Given the description of an element on the screen output the (x, y) to click on. 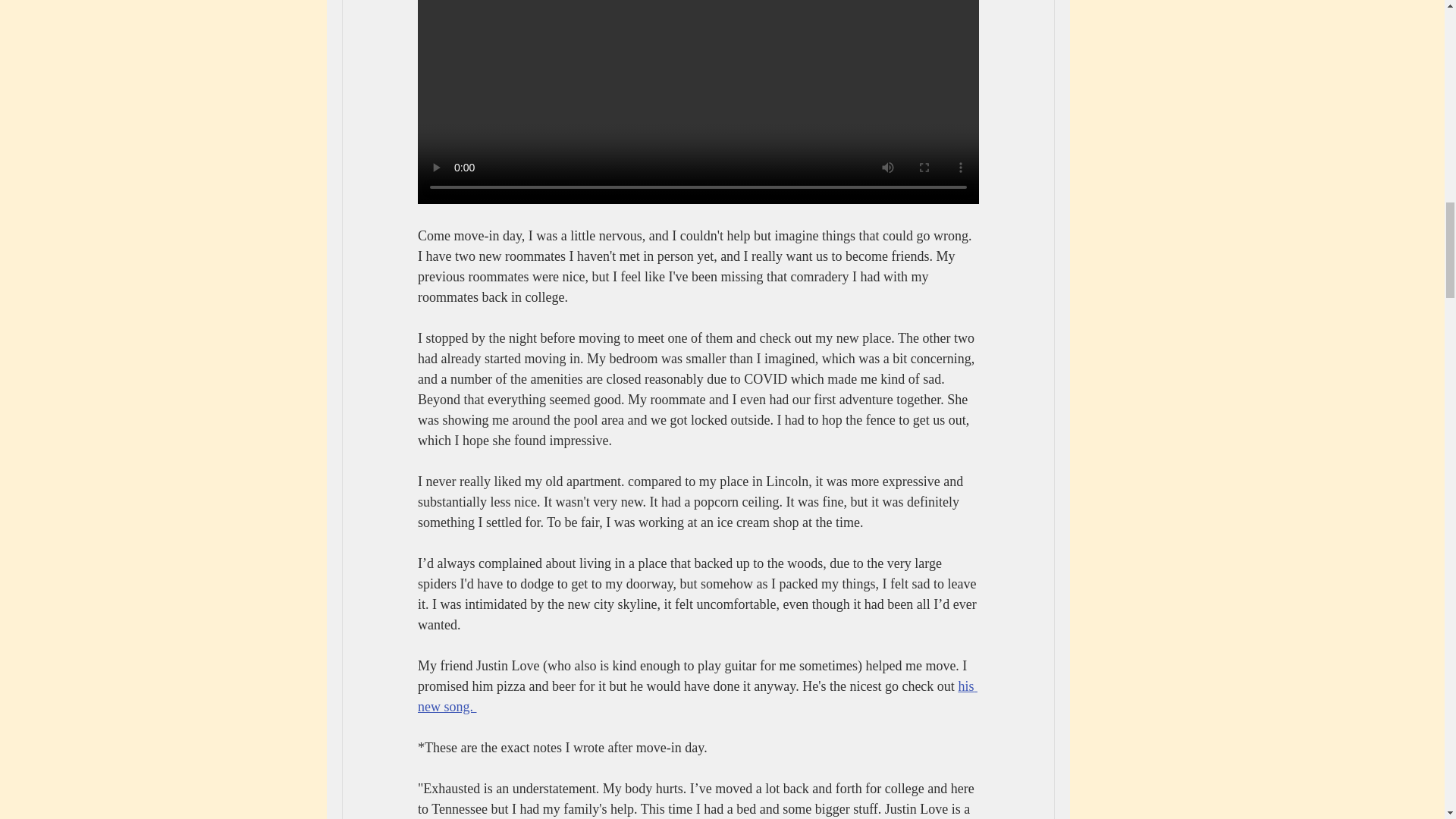
his new song.  (696, 696)
